Given the description of an element on the screen output the (x, y) to click on. 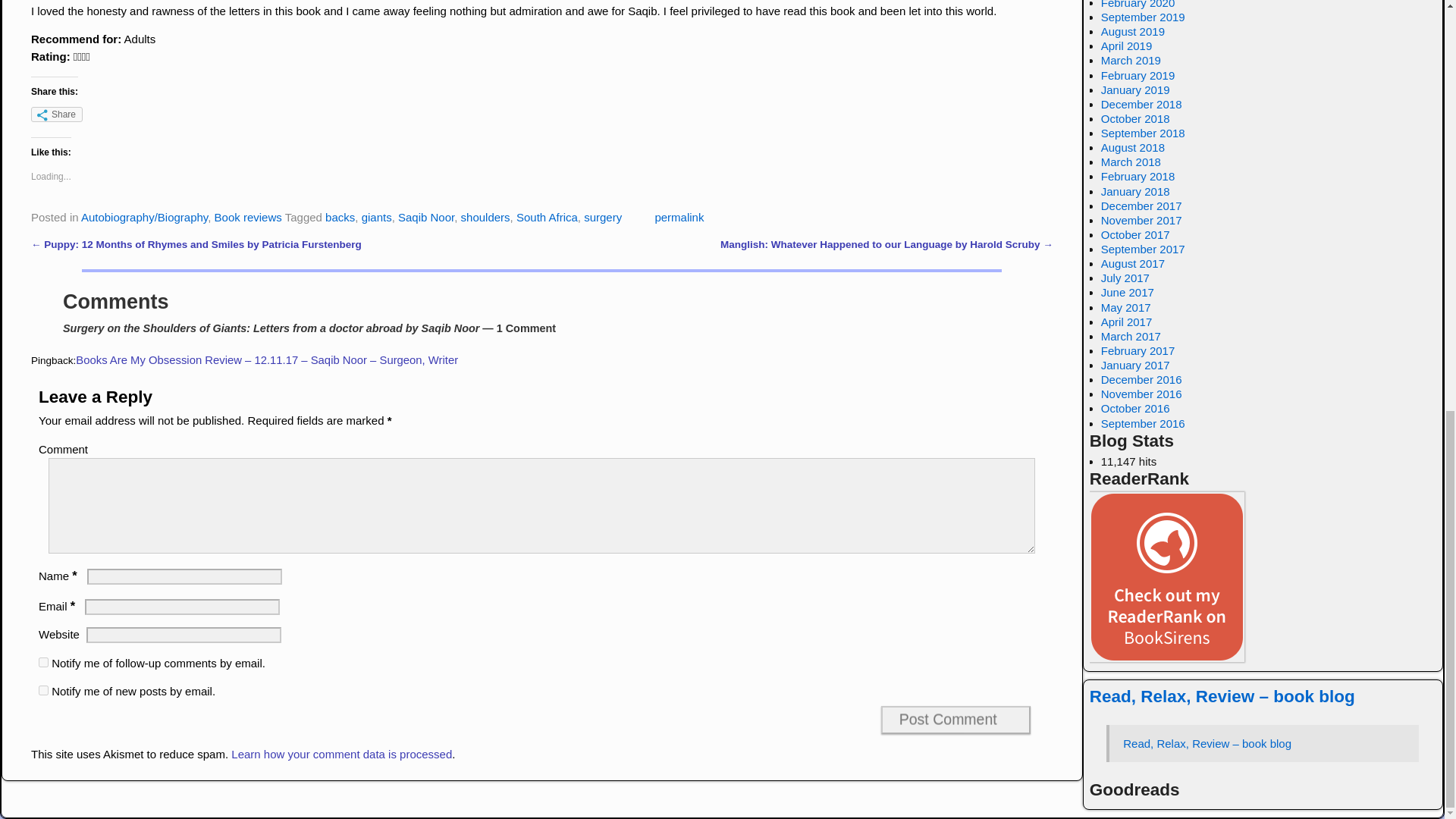
shoulders (486, 216)
subscribe (43, 690)
permalink (678, 216)
Learn how your comment data is processed (341, 753)
surgery (602, 216)
Post Comment (955, 719)
Post Comment (955, 719)
giants (376, 216)
Book reviews (248, 216)
backs (339, 216)
Saqib Noor (425, 216)
subscribe (43, 662)
Share (56, 114)
South Africa (547, 216)
